Given the description of an element on the screen output the (x, y) to click on. 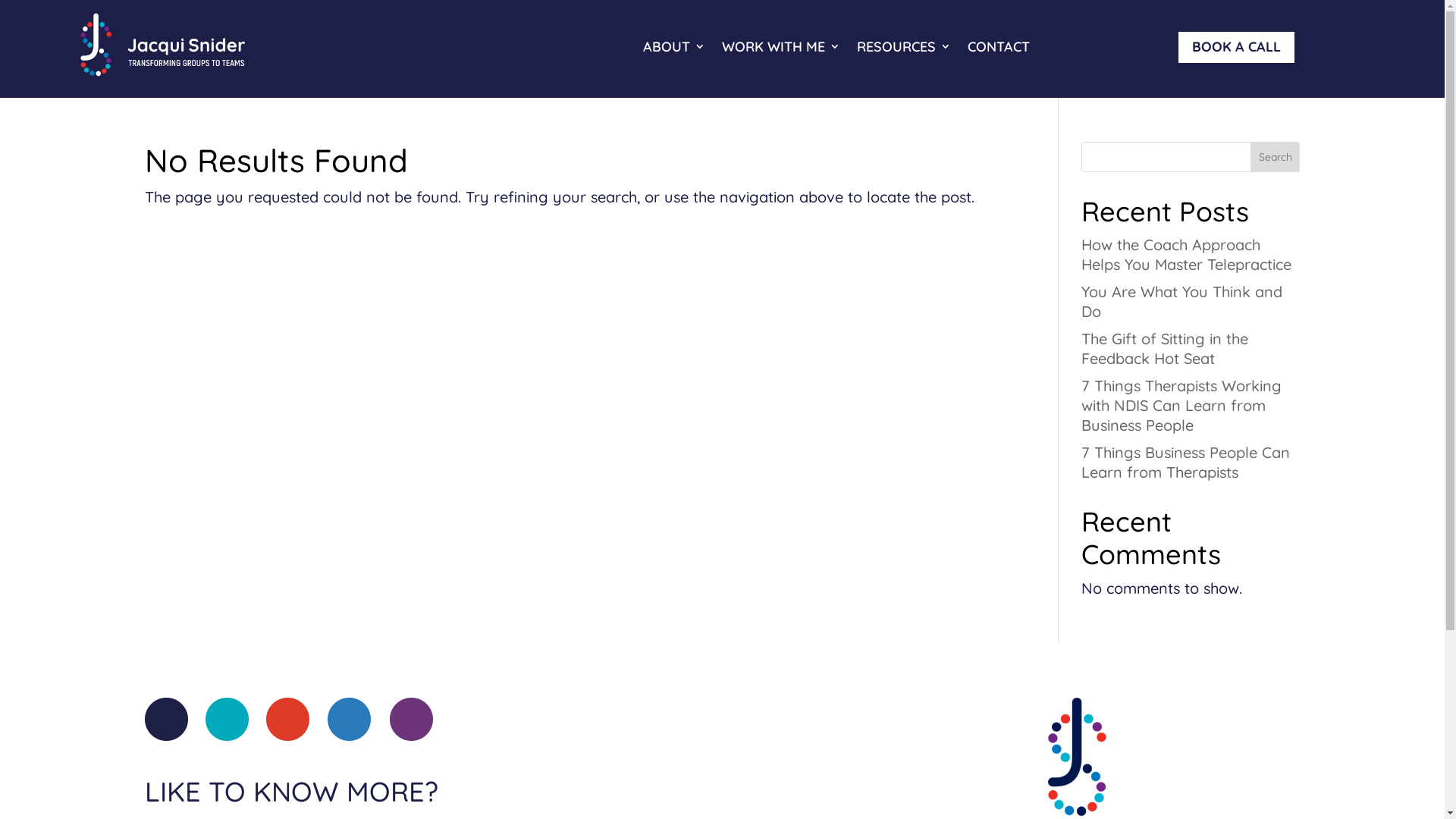
WORK WITH ME Element type: text (780, 46)
The Gift of Sitting in the Feedback Hot Seat Element type: text (1164, 348)
RESOURCES Element type: text (903, 46)
CONTACT Element type: text (998, 46)
BOOK A CALL Element type: text (1236, 46)
Search Element type: text (1275, 156)
How the Coach Approach Helps You Master Telepractice Element type: text (1186, 254)
ABOUT Element type: text (674, 46)
JS dots Element type: hover (288, 718)
7 Things Business People Can Learn from Therapists Element type: text (1185, 461)
You Are What You Think and Do Element type: text (1181, 301)
